Given the description of an element on the screen output the (x, y) to click on. 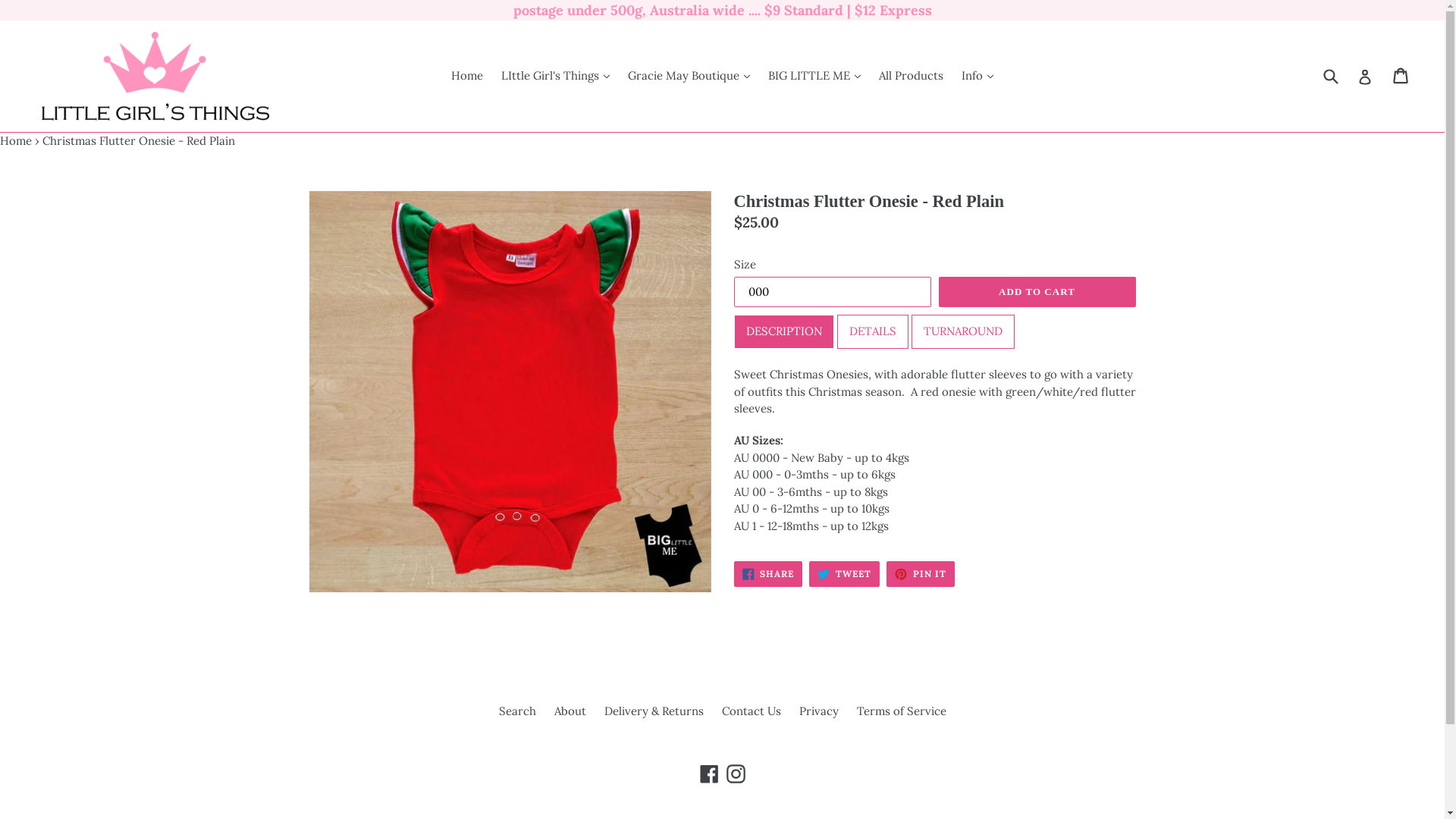
Facebook Element type: text (709, 773)
PIN IT
PIN ON PINTEREST Element type: text (920, 573)
Log in Element type: text (1364, 76)
Privacy Element type: text (818, 710)
All Products Element type: text (910, 76)
Delivery & Returns Element type: text (652, 710)
Home Element type: text (15, 140)
Submit Element type: text (1329, 75)
Contact Us Element type: text (751, 710)
Cart
Cart Element type: text (1401, 75)
TWEET
TWEET ON TWITTER Element type: text (844, 573)
SHARE
SHARE ON FACEBOOK Element type: text (768, 573)
Search Element type: text (517, 710)
Terms of Service Element type: text (901, 710)
Home Element type: text (466, 76)
ADD TO CART Element type: text (1036, 291)
About Element type: text (569, 710)
Instagram Element type: text (734, 773)
